Given the description of an element on the screen output the (x, y) to click on. 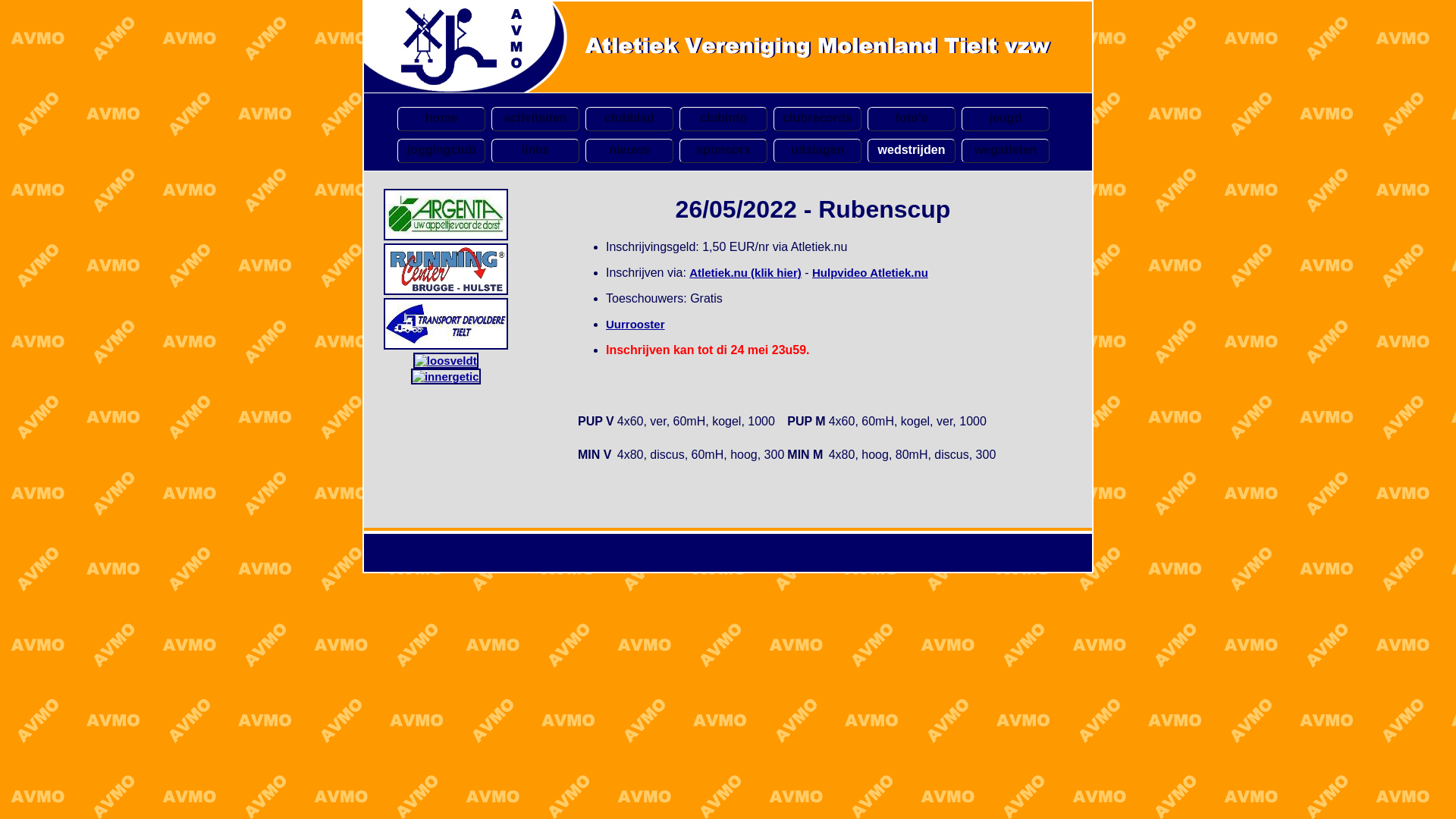
home Element type: text (441, 118)
links Element type: text (535, 150)
Atletiek.nu (klik hier) Element type: text (745, 272)
uitslagen Element type: text (817, 150)
clubinfo Element type: text (723, 118)
nieuws Element type: text (629, 150)
clubrecords Element type: text (817, 118)
joggingclub Element type: text (441, 150)
Hulpvideo Atletiek.nu Element type: text (870, 272)
foto's Element type: text (911, 118)
wegatleten Element type: text (1005, 150)
activiteiten Element type: text (535, 118)
clubblad Element type: text (629, 118)
wedstrijden Element type: text (911, 150)
jeugd Element type: text (1005, 118)
sponsors Element type: text (723, 150)
Uurrooster Element type: text (635, 323)
